Given the description of an element on the screen output the (x, y) to click on. 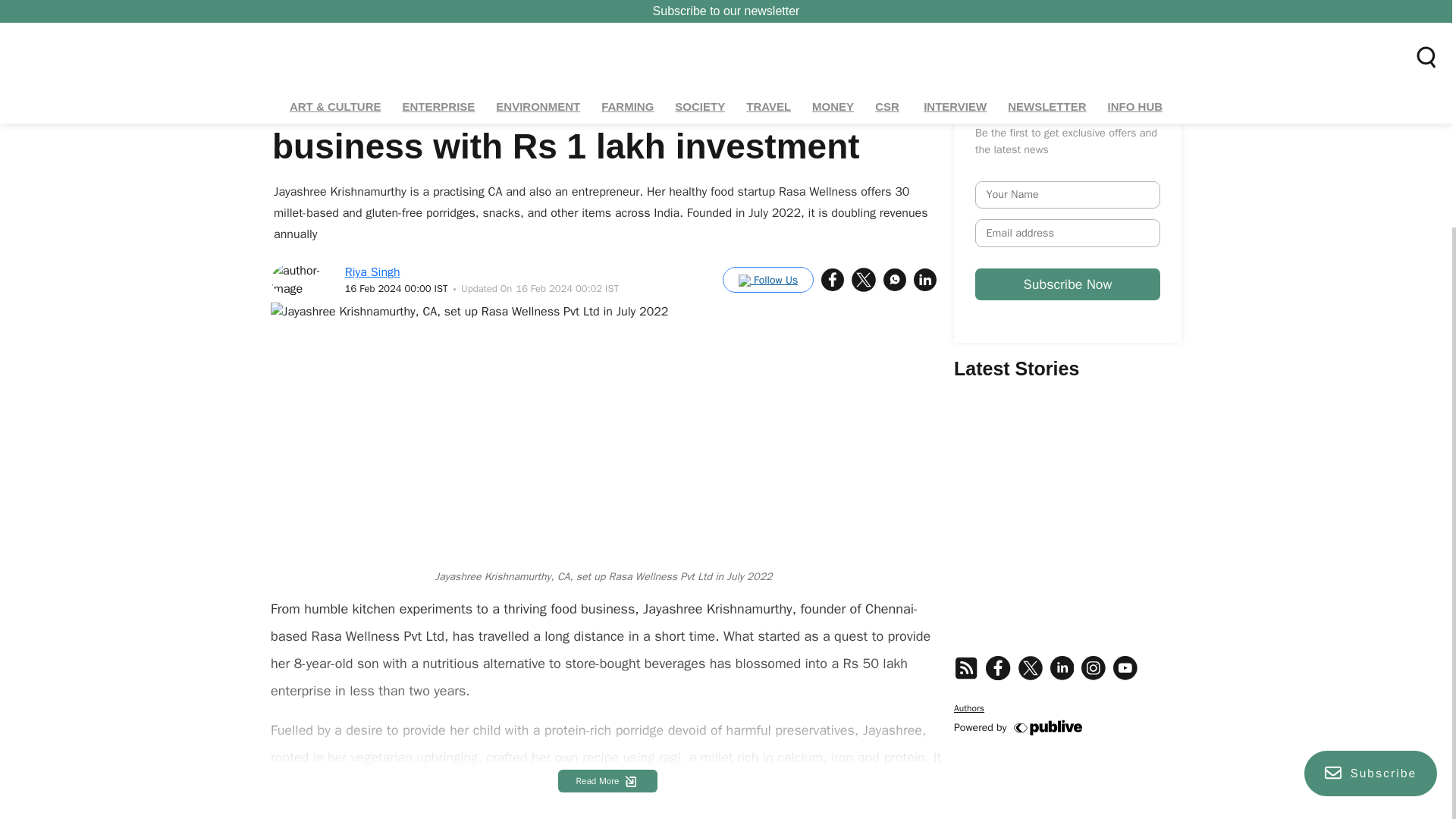
food entrepreneur (786, 803)
food business (572, 803)
healthy food (674, 803)
woman entrepreneur (338, 803)
Read More (607, 780)
Enterprise (1066, 697)
Riya Singh (311, 56)
millet startups (372, 272)
Subscribe Now (463, 803)
